Given the description of an element on the screen output the (x, y) to click on. 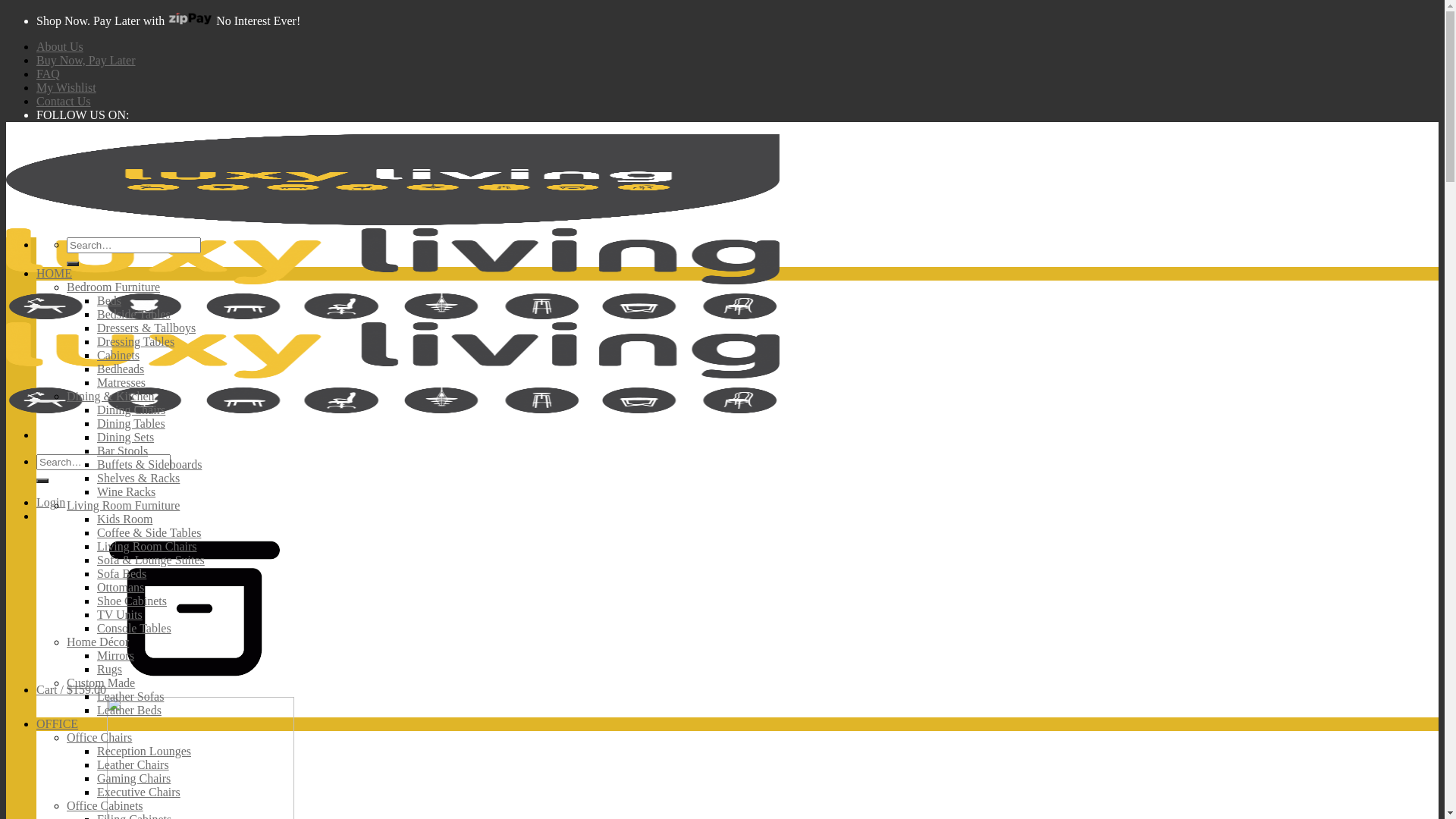
Living Room Furniture Element type: text (122, 504)
Executive Chairs Element type: text (138, 791)
Custom Made Element type: text (100, 682)
Search Element type: text (72, 263)
Office Chairs Element type: text (98, 737)
Living Room Chairs Element type: text (147, 545)
Leather Sofas Element type: text (130, 696)
Leather Beds Element type: text (129, 709)
Contact Us Element type: text (63, 100)
Coffee & Side Tables Element type: text (148, 532)
Dining Chairs Element type: text (131, 409)
HOME Element type: text (54, 272)
Ottomans Element type: text (120, 586)
Shoe Cabinets Element type: text (131, 600)
Bedroom Furniture Element type: text (113, 286)
Gaming Chairs Element type: text (133, 777)
Kids Room Element type: text (124, 518)
Skip to content Element type: text (5, 11)
Reception Lounges Element type: text (144, 750)
Leather Chairs Element type: text (133, 764)
FAQ Element type: text (47, 73)
Rugs Element type: text (109, 668)
Cabinets Element type: text (118, 354)
Dining & Kitchen Element type: text (110, 395)
Bedheads Element type: text (120, 368)
Dressing Tables Element type: text (135, 341)
Bedside Tables Element type: text (133, 313)
Beds Element type: text (109, 300)
Buffets & Sideboards Element type: text (149, 464)
Luxy Living - Affordable Luxury Furniture Element type: hover (392, 314)
Sofa & Lounge Suites Element type: text (150, 559)
Mirrors Element type: text (115, 655)
Console Tables Element type: text (134, 627)
Wine Racks Element type: text (126, 491)
Sofa Beds Element type: text (121, 573)
About Us Element type: text (59, 46)
TV Units Element type: text (119, 614)
Matresses Element type: text (121, 382)
Office Cabinets Element type: text (104, 805)
Dining Sets Element type: text (125, 436)
Bar Stools Element type: text (122, 450)
Cart / $159.00 Element type: text (157, 689)
Dressers & Tallboys Element type: text (146, 327)
Dining Tables Element type: text (131, 423)
Buy Now, Pay Later Element type: text (85, 59)
Login Element type: text (50, 501)
Search Element type: text (42, 480)
OFFICE Element type: text (57, 723)
Shelves & Racks Element type: text (138, 477)
My Wishlist Element type: text (66, 87)
